Given the description of an element on the screen output the (x, y) to click on. 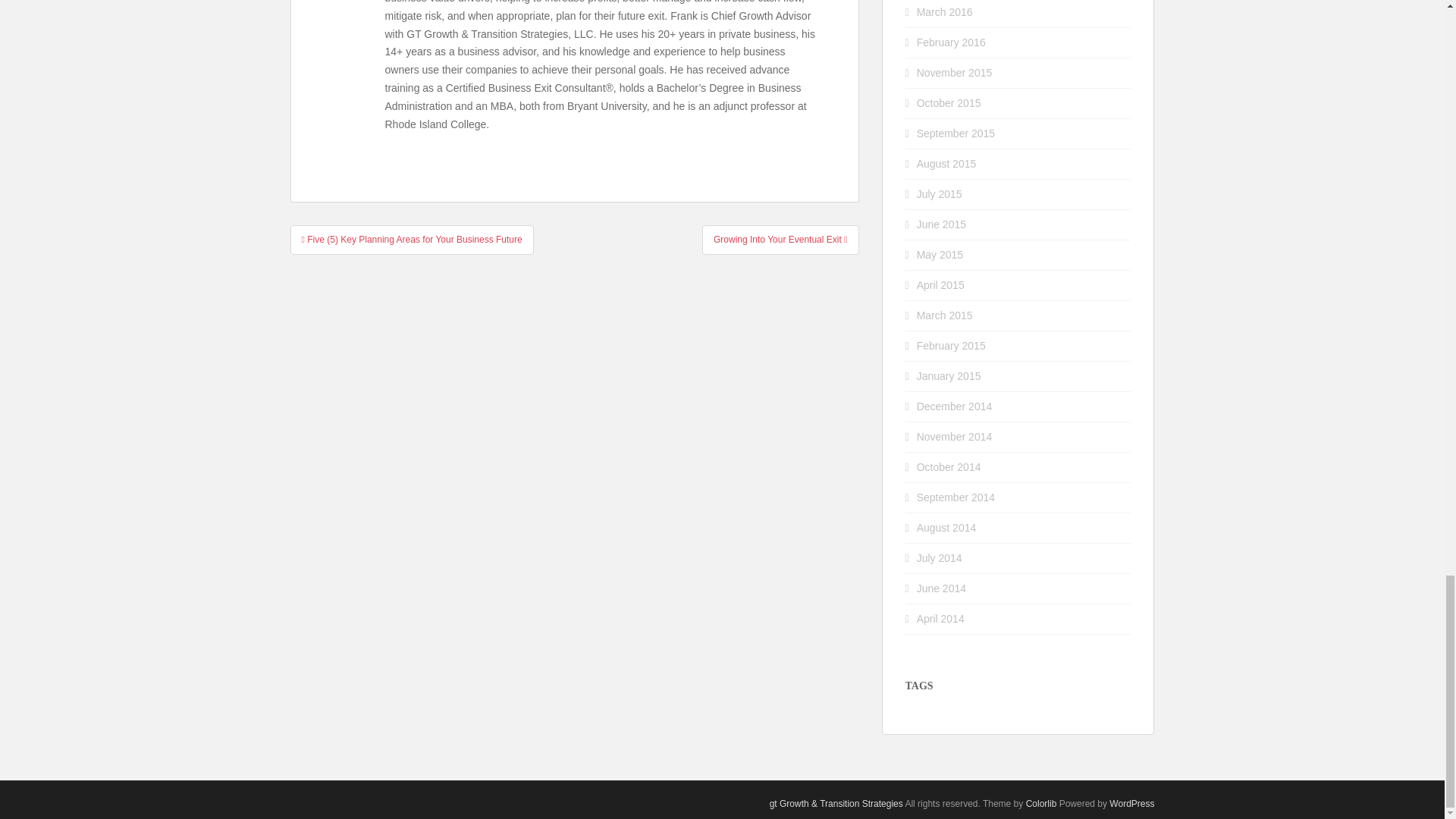
Growing Into Your Eventual Exit (780, 239)
